Given the description of an element on the screen output the (x, y) to click on. 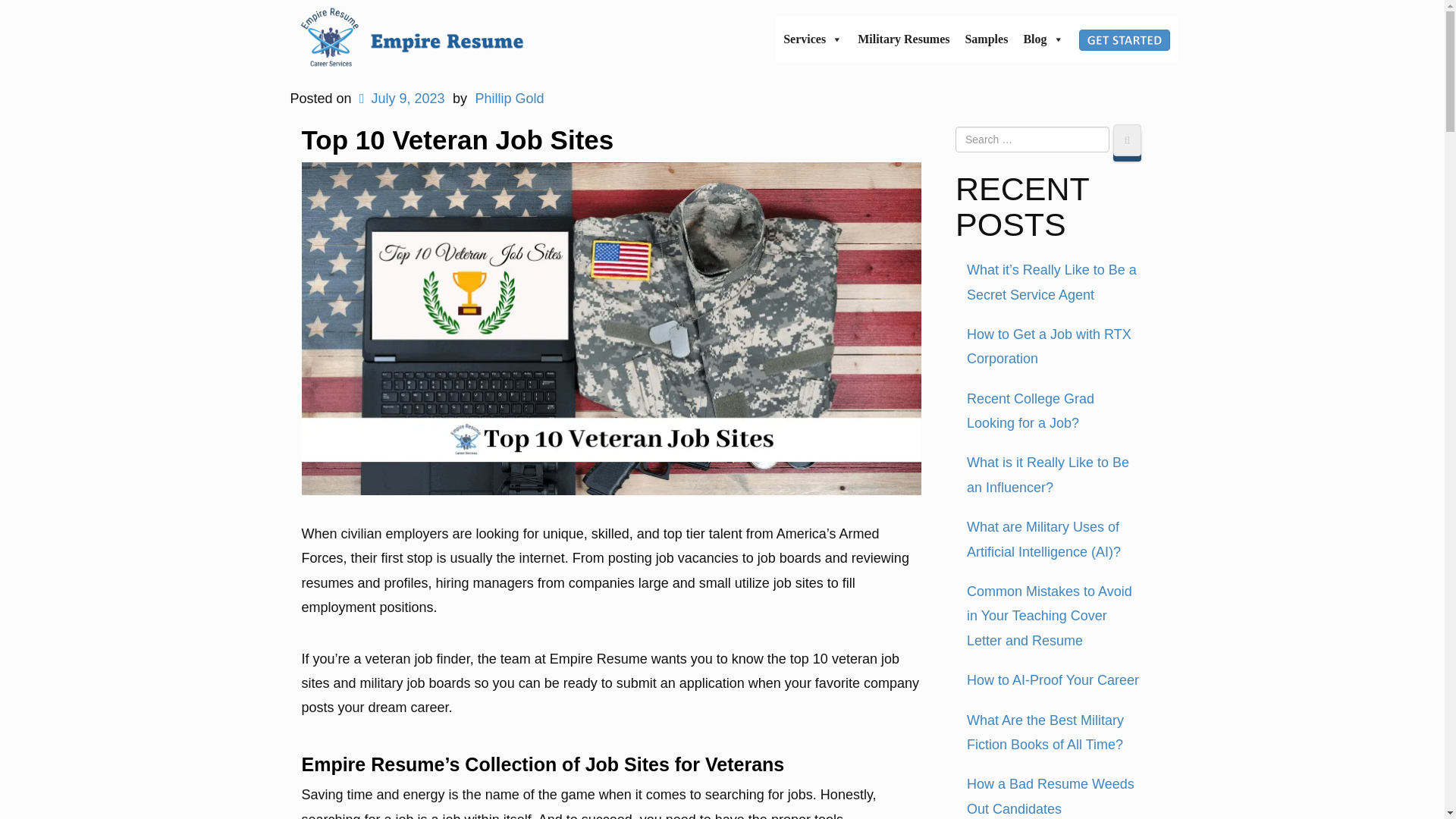
Military Resumes (903, 39)
Phillip Gold (508, 98)
Blog (1042, 39)
July 9, 2023 (400, 98)
Services (813, 39)
Samples (985, 39)
